Given the description of an element on the screen output the (x, y) to click on. 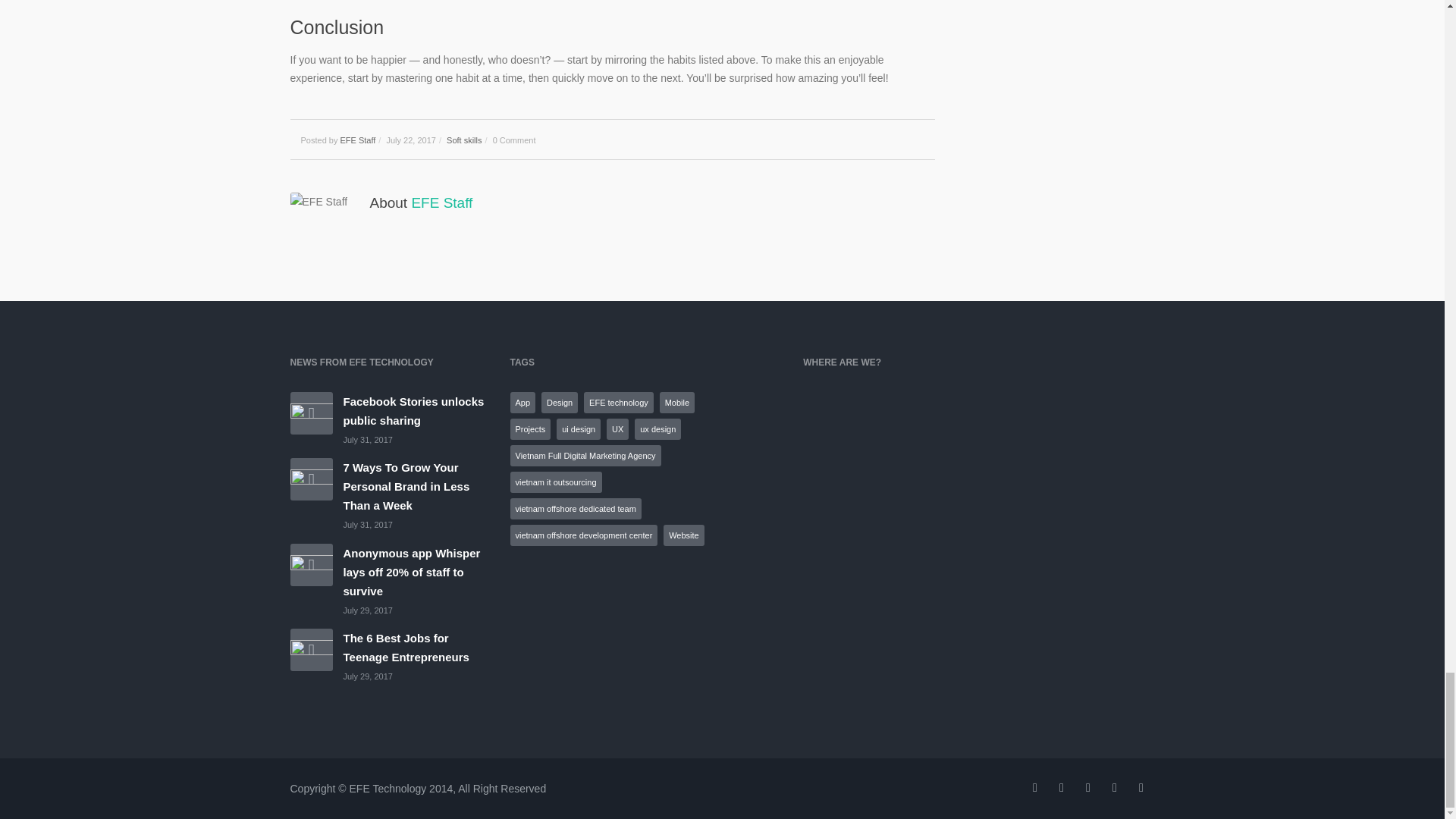
7 Ways To Grow Your Personal Brand in Less Than a Week (405, 486)
Soft skills (463, 139)
Posts by EFE Staff (440, 202)
Facebook Stories unlocks public sharing (412, 410)
Facebook Stories unlocks public sharing (310, 413)
7 Ways To Grow Your Personal Brand in Less Than a Week (310, 478)
EFE Staff (440, 202)
The 6 Best Jobs for Teenage Entrepreneurs (405, 647)
EFE Staff (357, 139)
Posts by EFE Staff (357, 139)
The 6 Best Jobs for Teenage Entrepreneurs (310, 649)
